Given the description of an element on the screen output the (x, y) to click on. 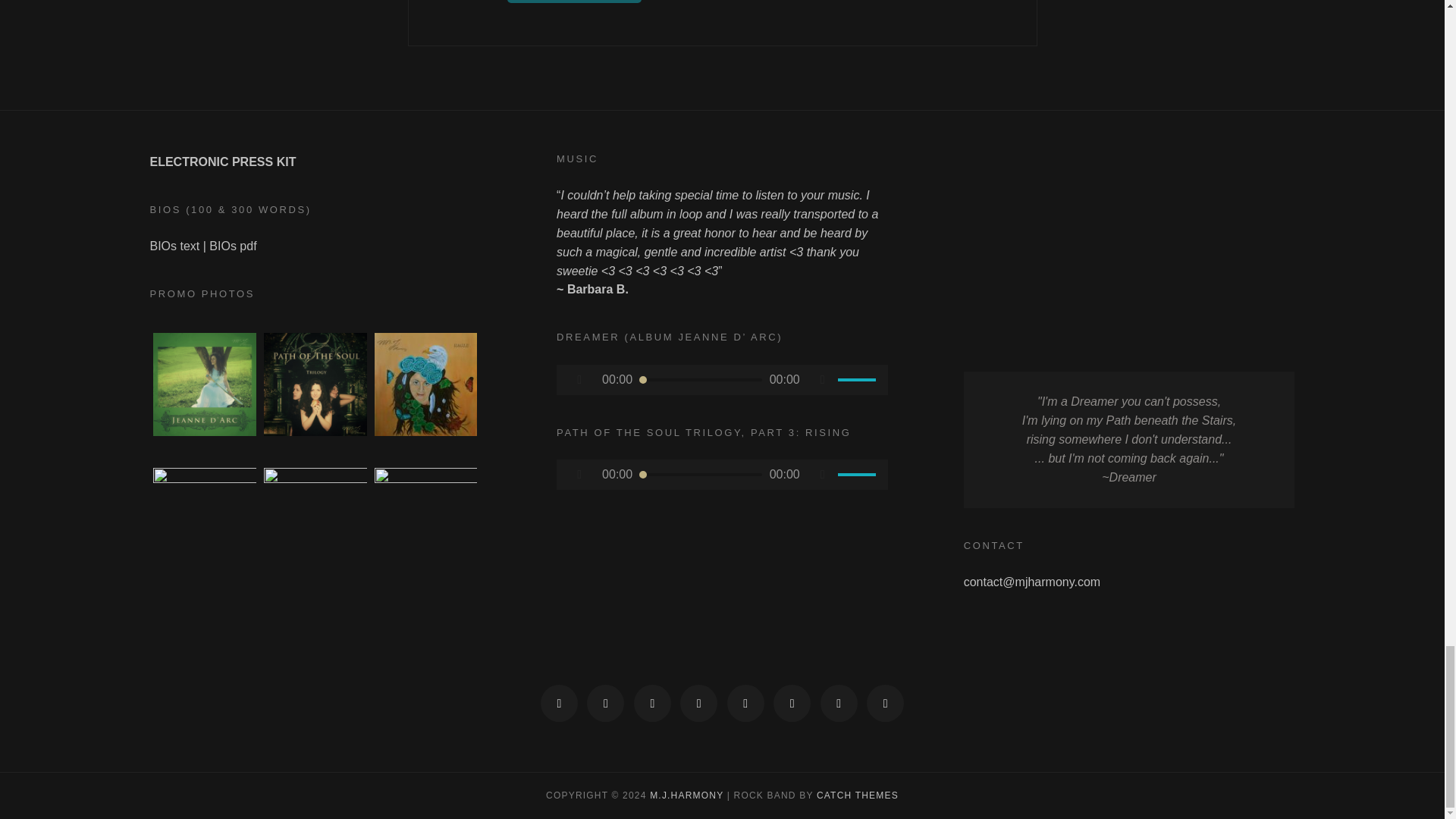
Follow Button (315, 631)
Post Comment (574, 1)
Play (579, 379)
Mute (823, 379)
